Given the description of an element on the screen output the (x, y) to click on. 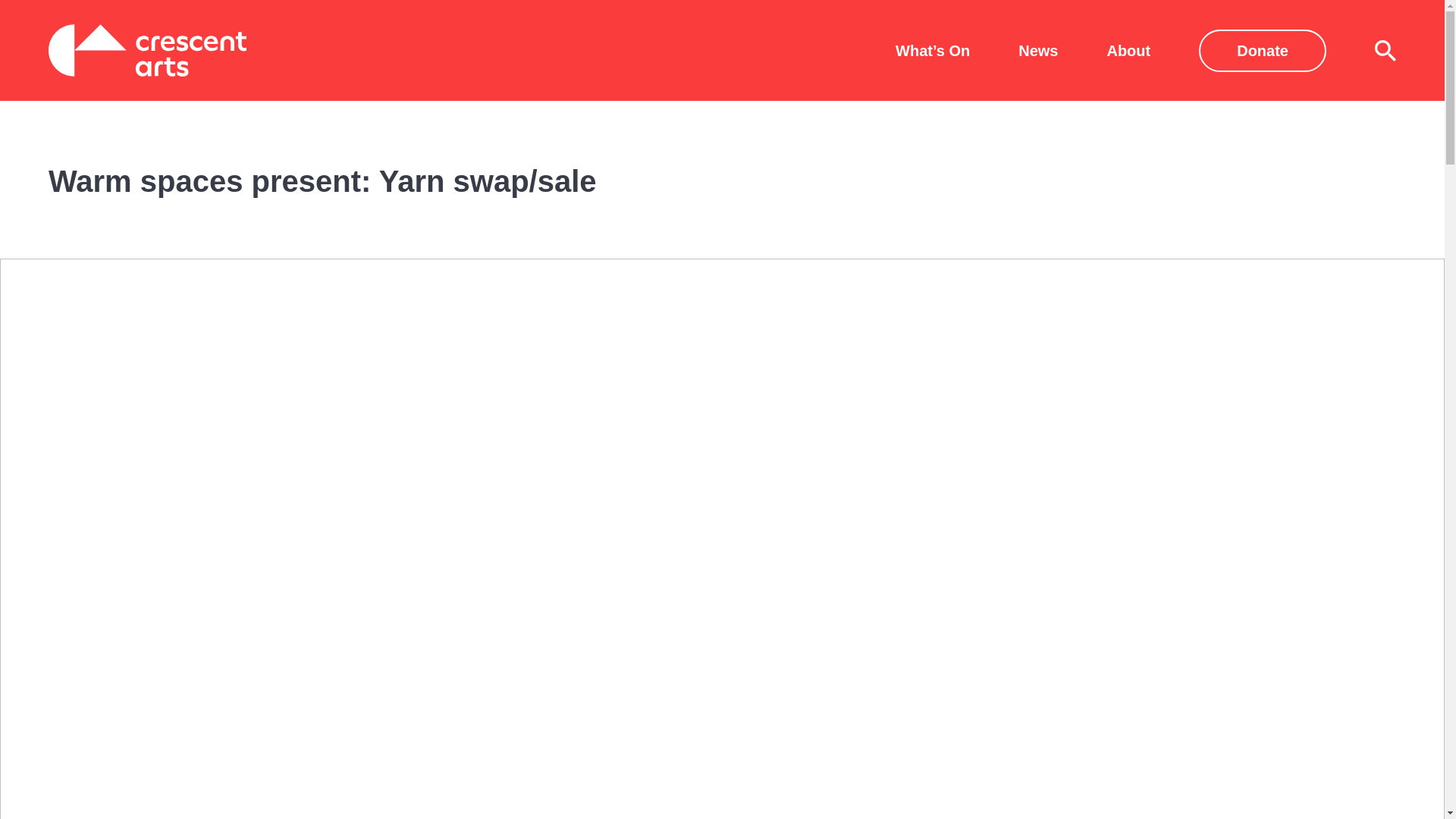
News (1037, 49)
Donate (1262, 49)
About (1128, 49)
Donate (1262, 49)
News (1037, 49)
About (1128, 49)
Crescent Arts Logo (147, 50)
